Given the description of an element on the screen output the (x, y) to click on. 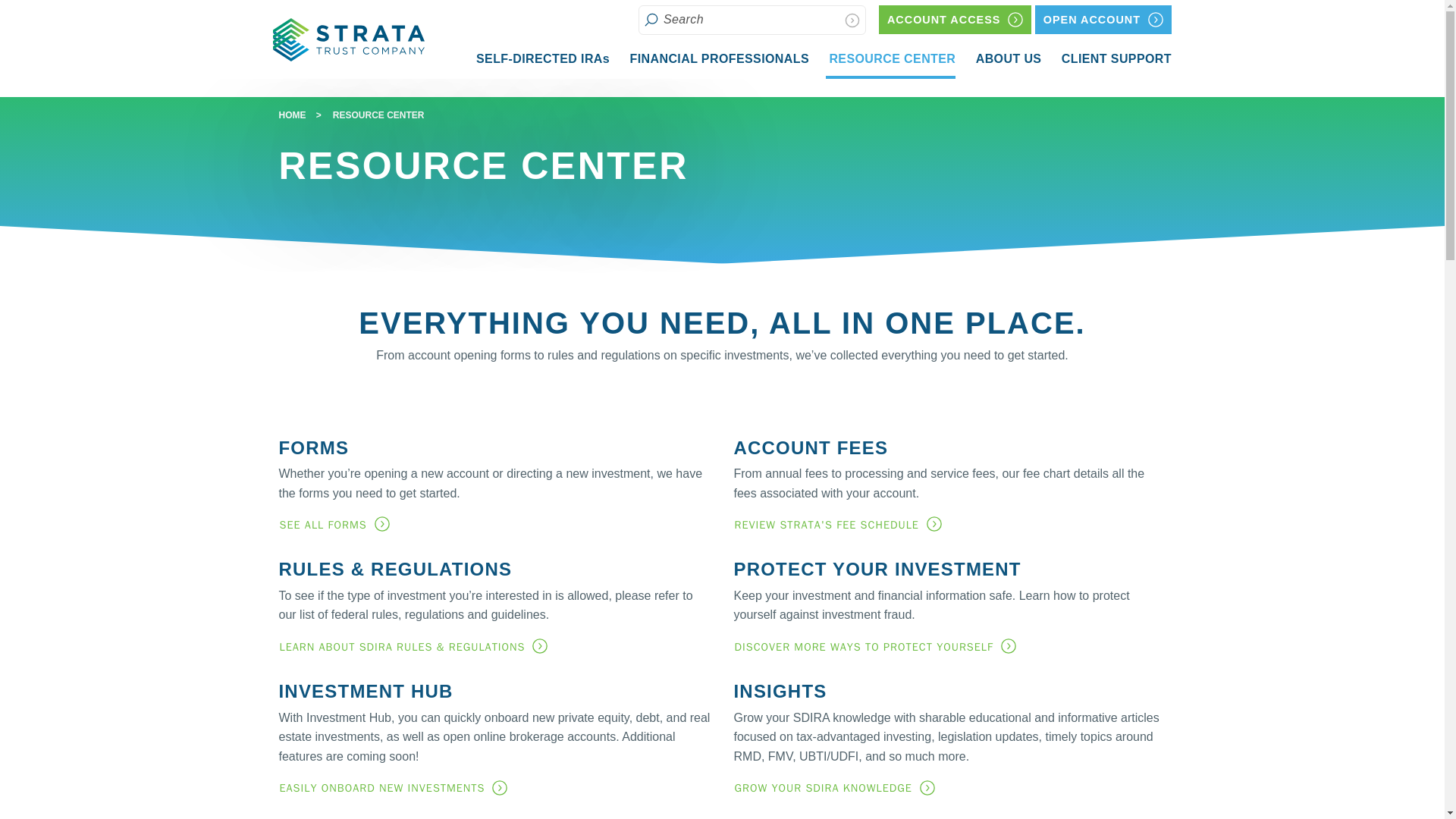
CLIENT SUPPORT (1115, 58)
OPEN ACCOUNT (541, 58)
RESOURCE CENTER (1103, 19)
FINANCIAL PROFESSIONALS (890, 60)
ACCOUNT ACCESS (717, 58)
ABOUT US (954, 19)
